Given the description of an element on the screen output the (x, y) to click on. 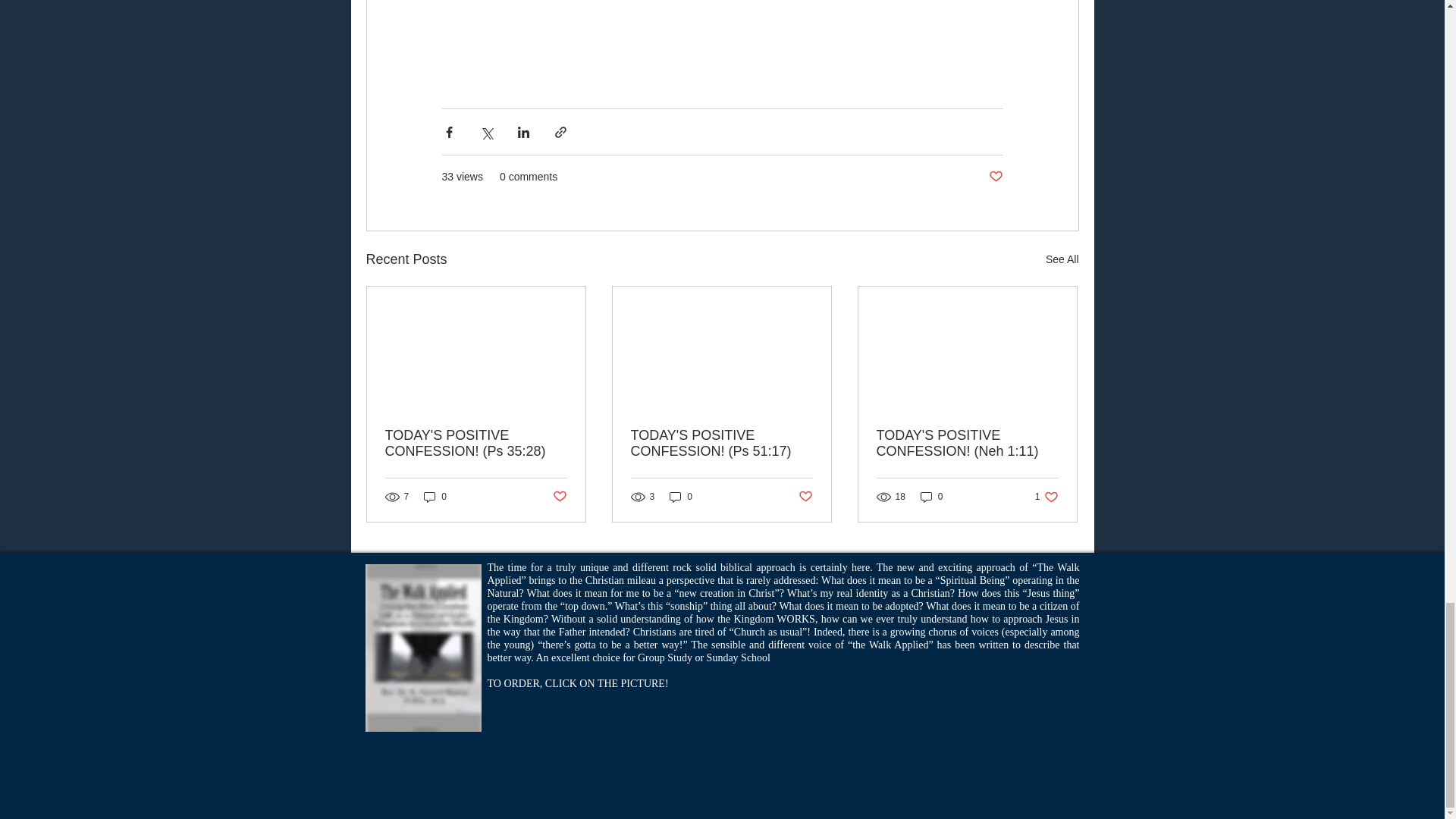
See All (1061, 259)
0 (931, 495)
0 (681, 495)
Post not marked as liked (995, 176)
Post not marked as liked (558, 496)
0 (1046, 495)
Post not marked as liked (435, 495)
